Given the description of an element on the screen output the (x, y) to click on. 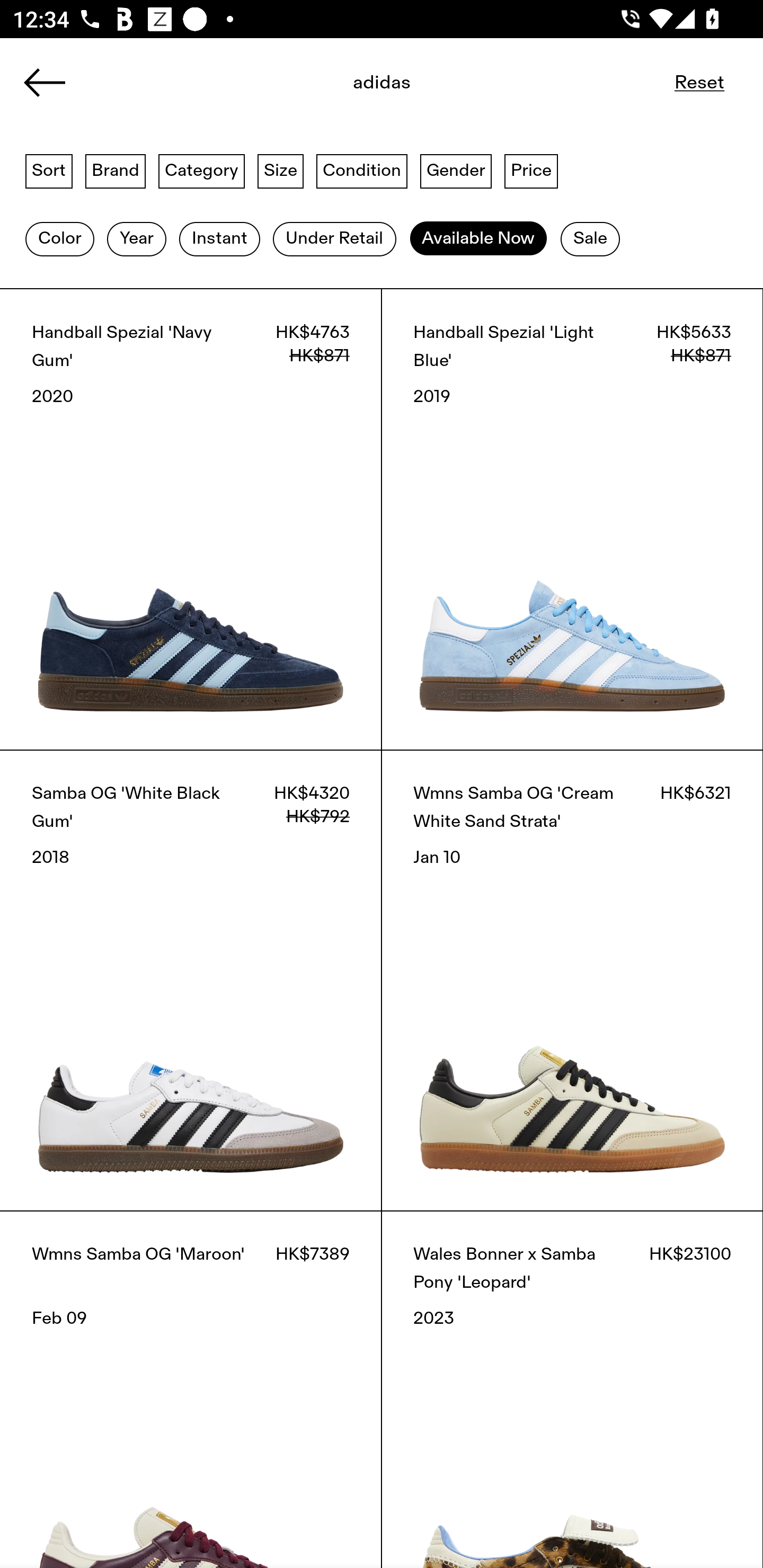
Reset (699, 82)
flats (381, 88)
Sort (48, 170)
Brand (115, 170)
Category (201, 170)
Size (280, 170)
Condition (361, 170)
Gender (455, 170)
Price (530, 170)
Color (59, 239)
Year (136, 239)
Instant (219, 239)
Under Retail (334, 239)
Available Now (477, 239)
Sale (589, 239)
Handball Spezial 'Navy Gum' HK$4763 HK$871 2020 (190, 518)
Handball Spezial 'Light Blue' HK$5633 HK$871 2019 (572, 518)
Samba OG 'White Black Gum' HK$4320 HK$792 2018 (190, 979)
Wmns Samba OG 'Maroon' HK$7389 Feb 09 (190, 1389)
Wales Bonner x Samba Pony 'Leopard' HK$23100 2023 (572, 1389)
